Given the description of an element on the screen output the (x, y) to click on. 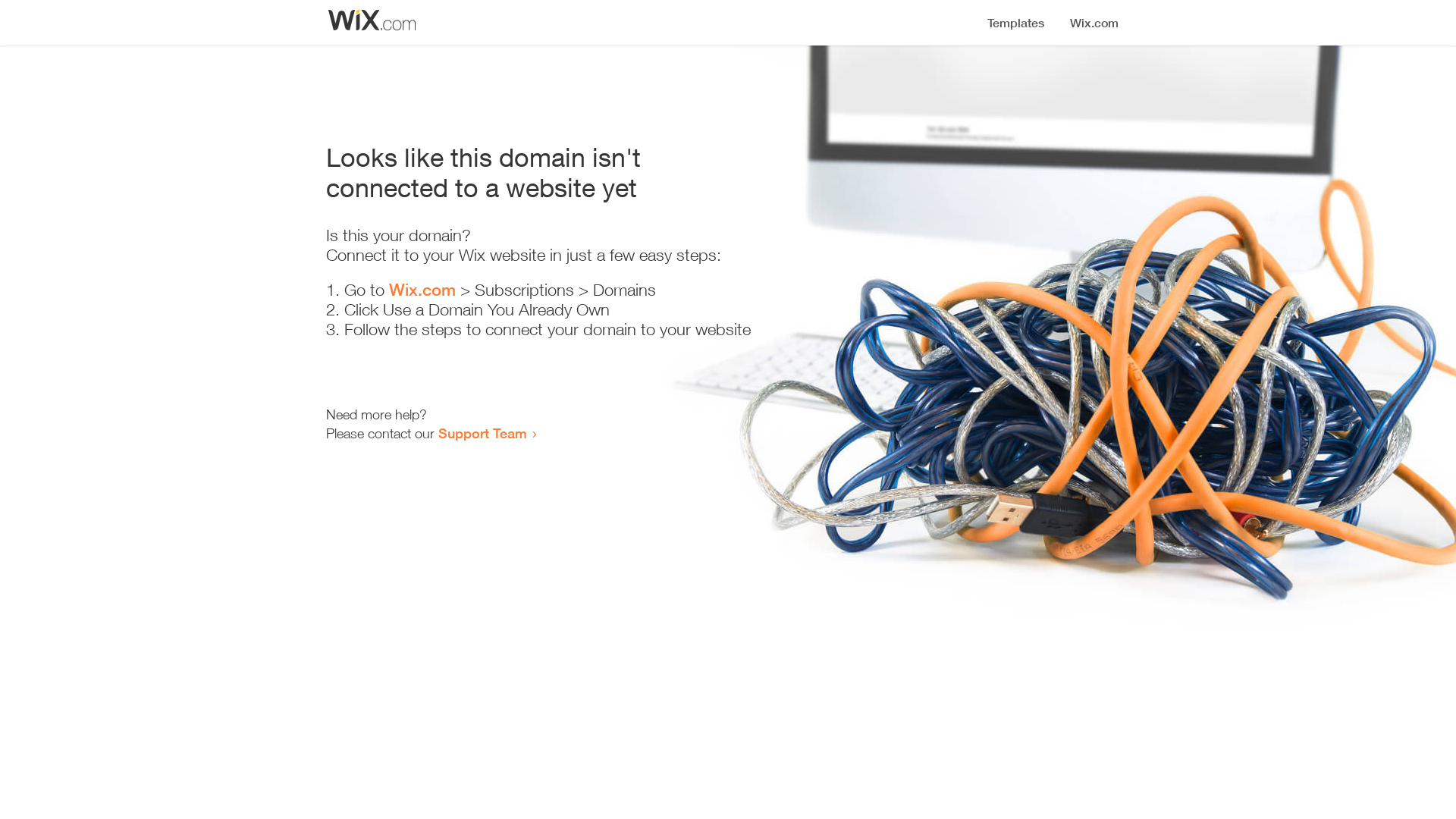
Support Team Element type: text (482, 432)
Wix.com Element type: text (422, 289)
